Given the description of an element on the screen output the (x, y) to click on. 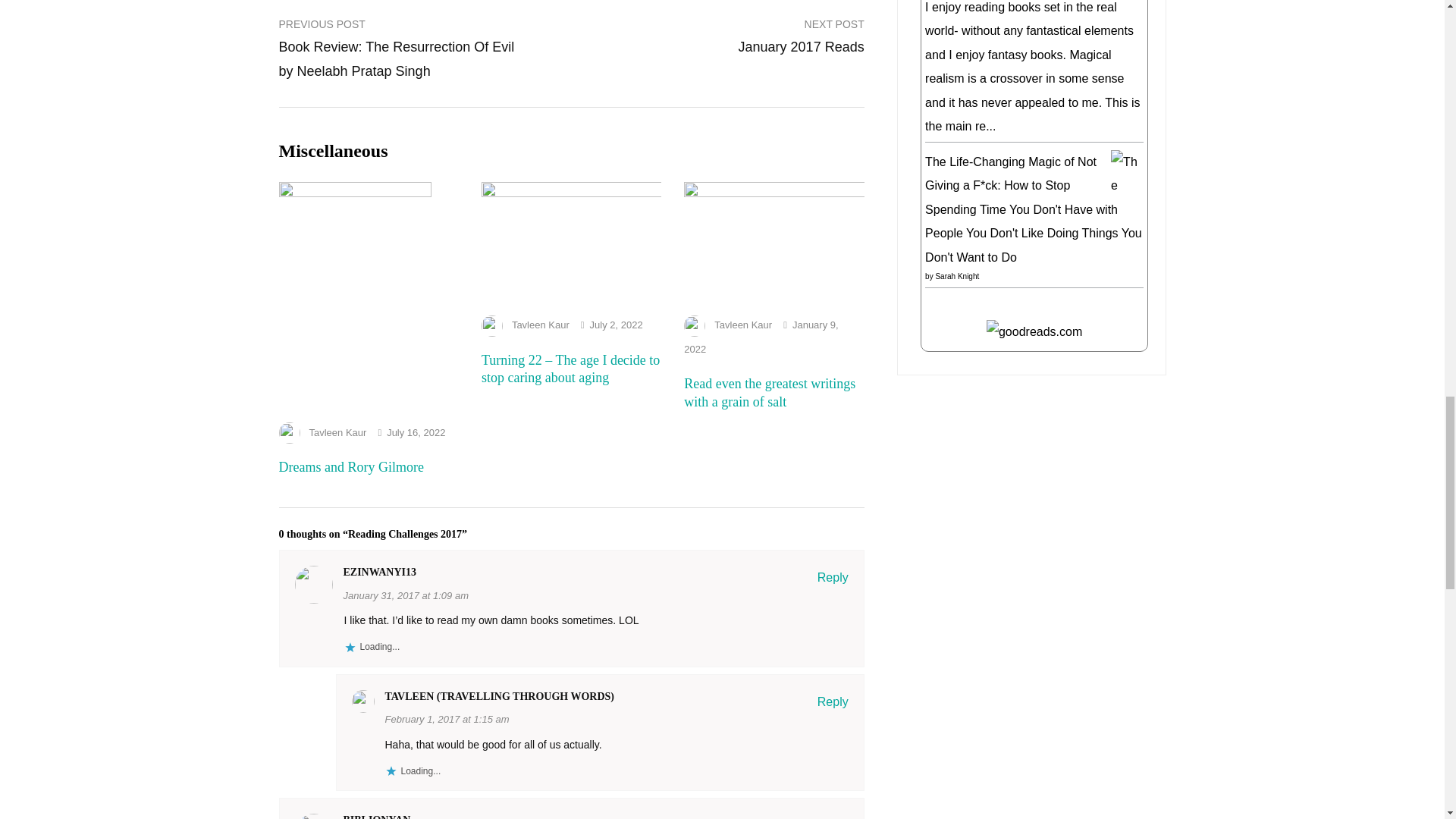
July 16, 2022 (416, 432)
Read even the greatest writings with a grain of salt (773, 192)
Tavleen Kaur (337, 432)
Dreams and Rory Gilmore (354, 192)
Tavleen Kaur (540, 324)
Dreams and Rory Gilmore (351, 467)
